Given the description of an element on the screen output the (x, y) to click on. 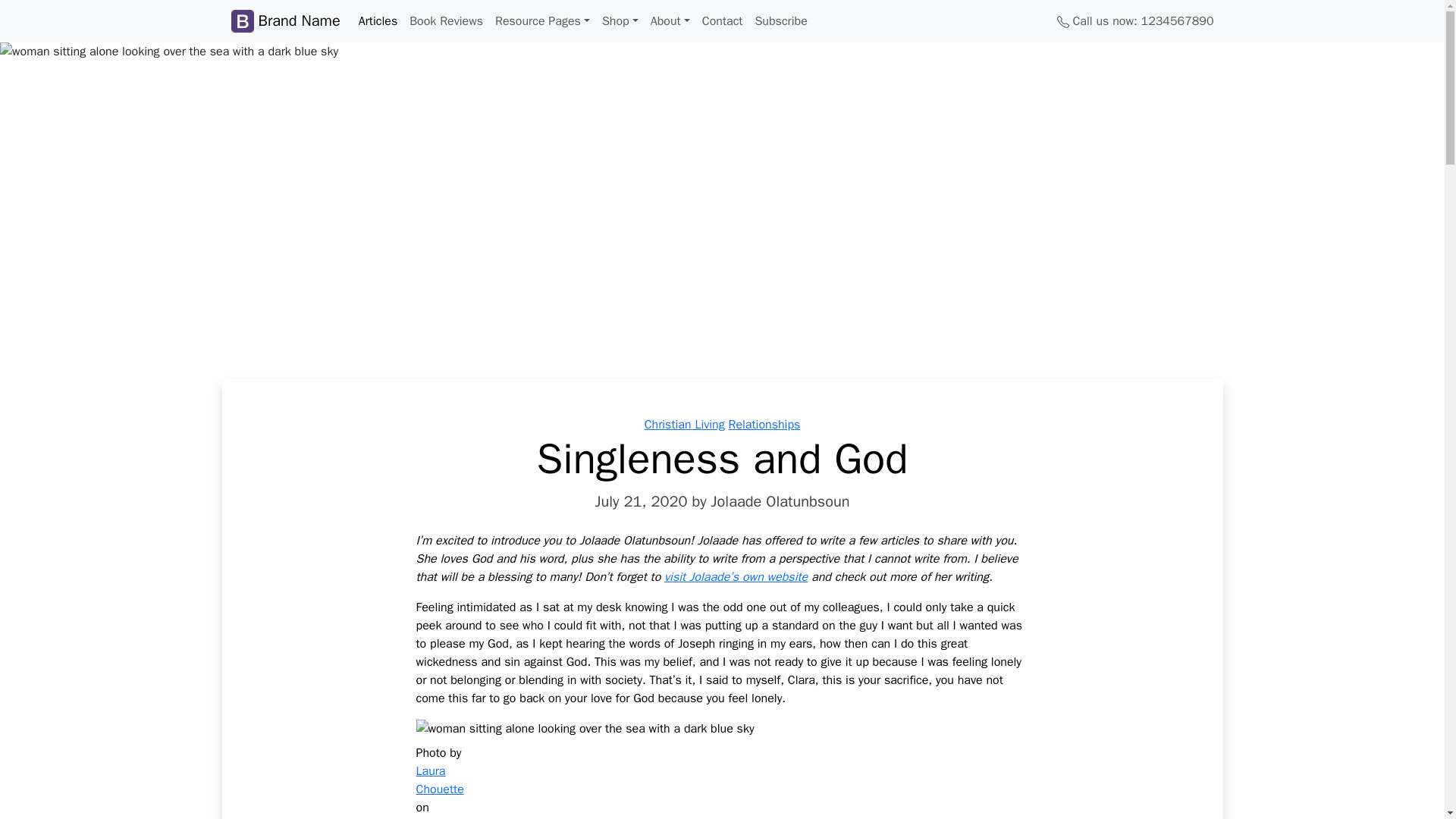
Relationships (763, 424)
Subscribe (780, 20)
Shop (620, 20)
Laura Chouette (438, 779)
Call us now: 1234567890 (1135, 20)
Unsplash (439, 818)
Book Reviews (446, 20)
About (670, 20)
Articles (377, 20)
Brand Name (284, 20)
